Given the description of an element on the screen output the (x, y) to click on. 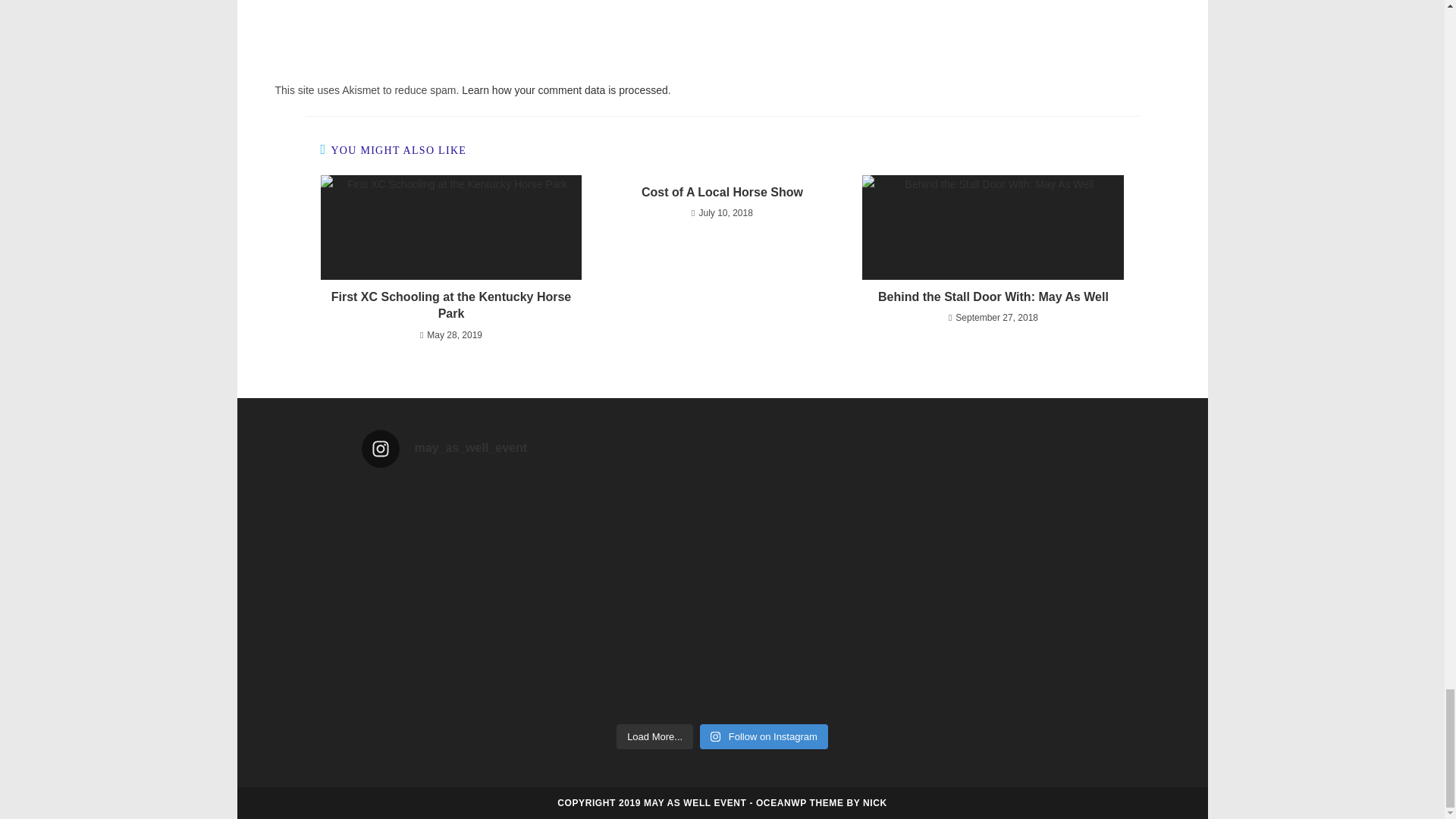
Comment Form (722, 29)
